Given the description of an element on the screen output the (x, y) to click on. 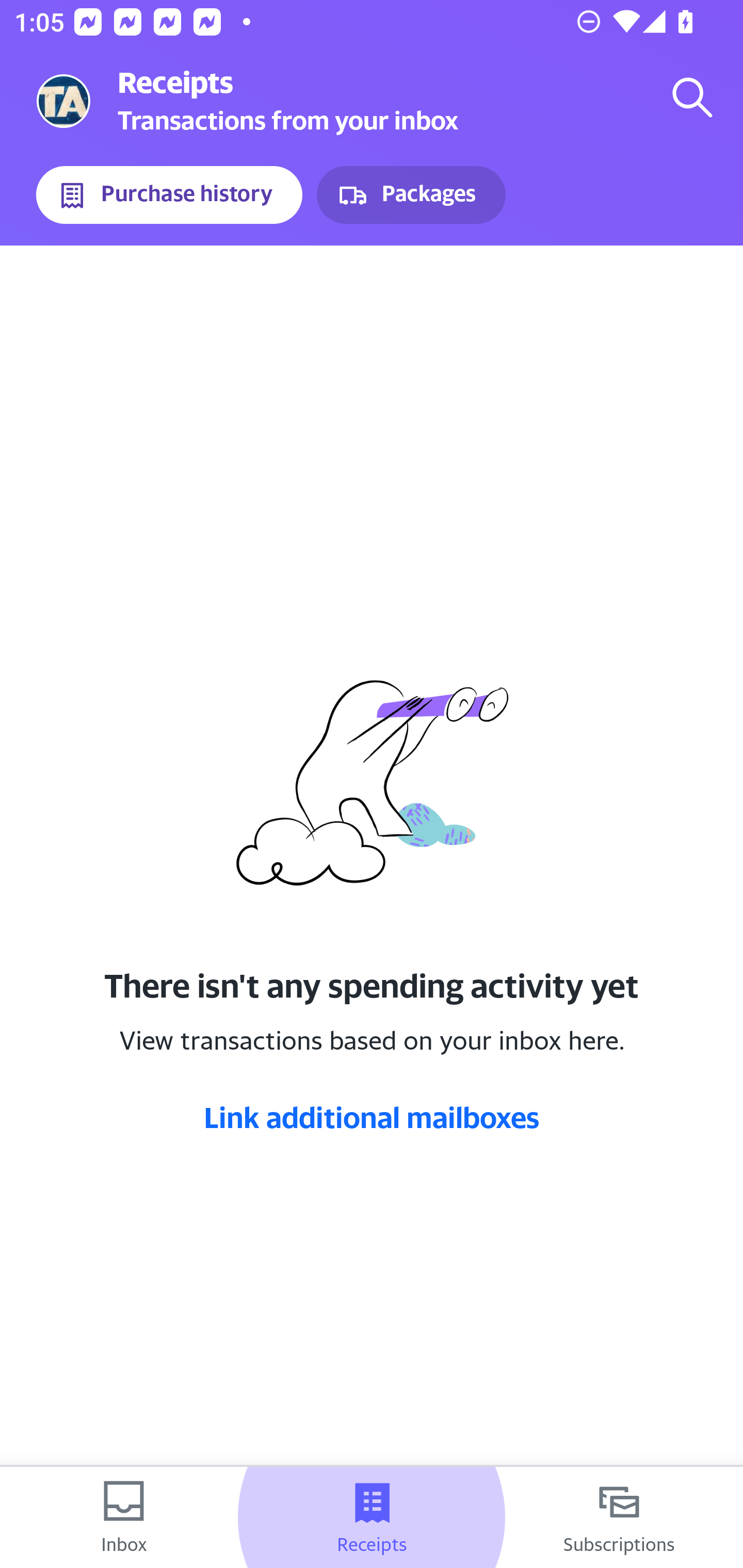
Search mail (692, 97)
Packages (410, 195)
Link additional mailboxes (371, 1117)
Inbox (123, 1517)
Receipts (371, 1517)
Subscriptions (619, 1517)
